Given the description of an element on the screen output the (x, y) to click on. 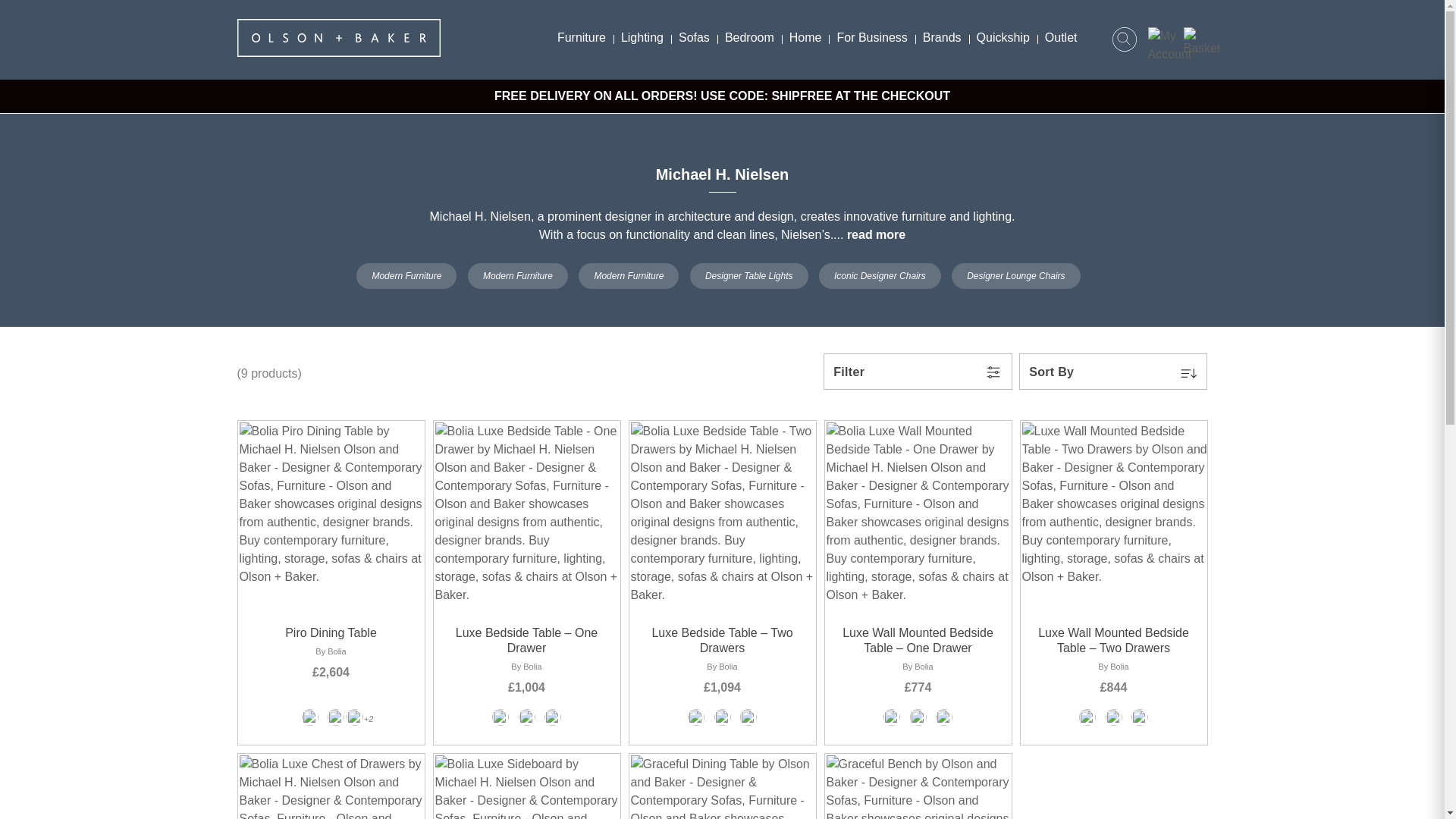
Bolia - Dark Oiled Oak (311, 721)
Bolia - Black Stained Oak (892, 721)
Outlet (1060, 37)
Bedroom (749, 37)
Bolia - Grey-Brown Fenix Laminate (335, 717)
Bolia - Black Stained Oak (1088, 721)
Bolia - White Oiled Oak (748, 721)
For Business (871, 37)
Bolia - Oiled Oak (528, 721)
Brands (942, 37)
